Given the description of an element on the screen output the (x, y) to click on. 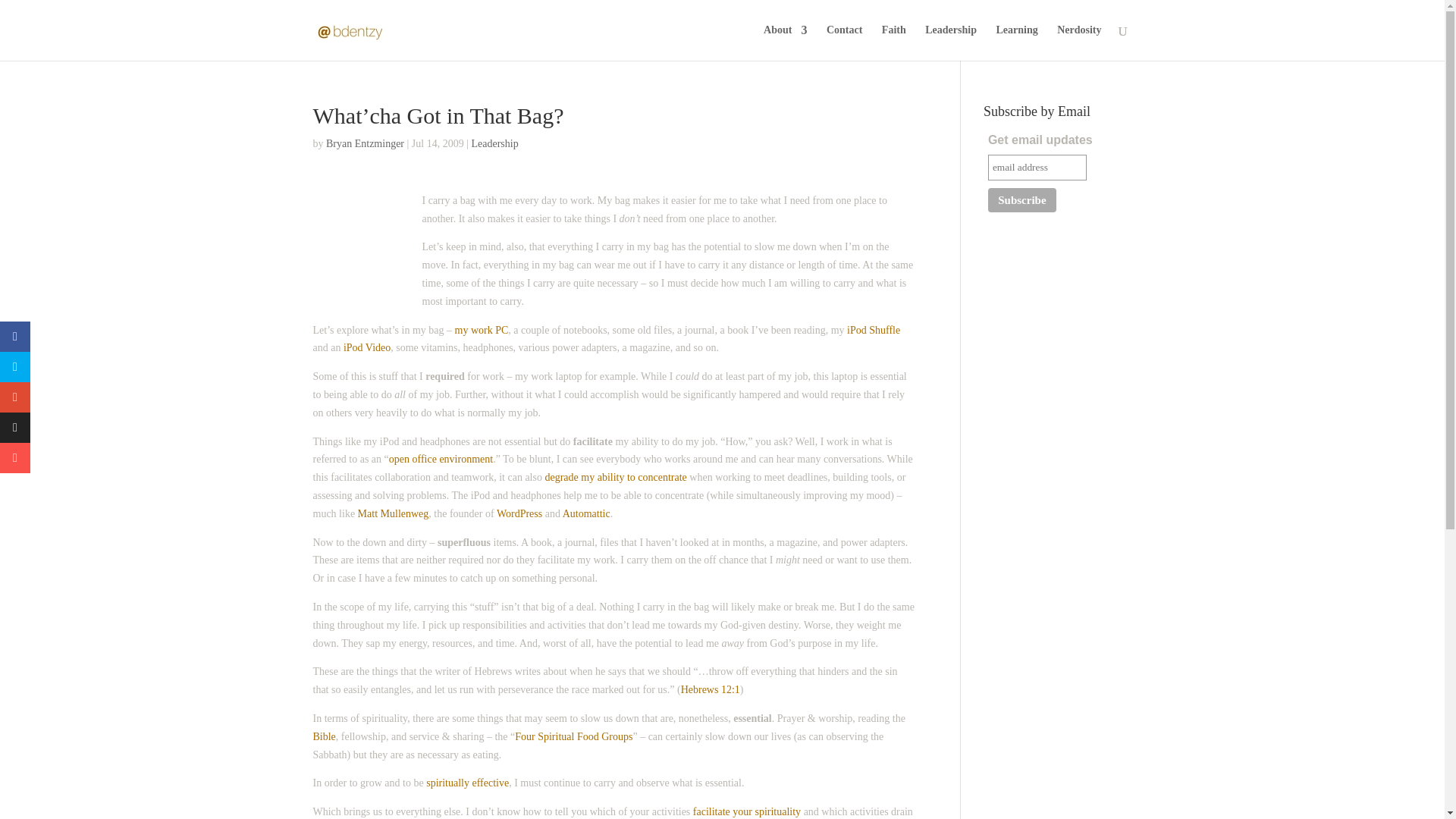
open office environment (440, 459)
my work PC (481, 329)
Bryan Entzminger (365, 143)
spiritually effective (467, 782)
Subscribe (1022, 200)
Posts by Bryan Entzminger (365, 143)
WordPress (518, 513)
IPod Shuffle (873, 329)
Nerdosity (1078, 42)
iPod Shuffle (873, 329)
